Given the description of an element on the screen output the (x, y) to click on. 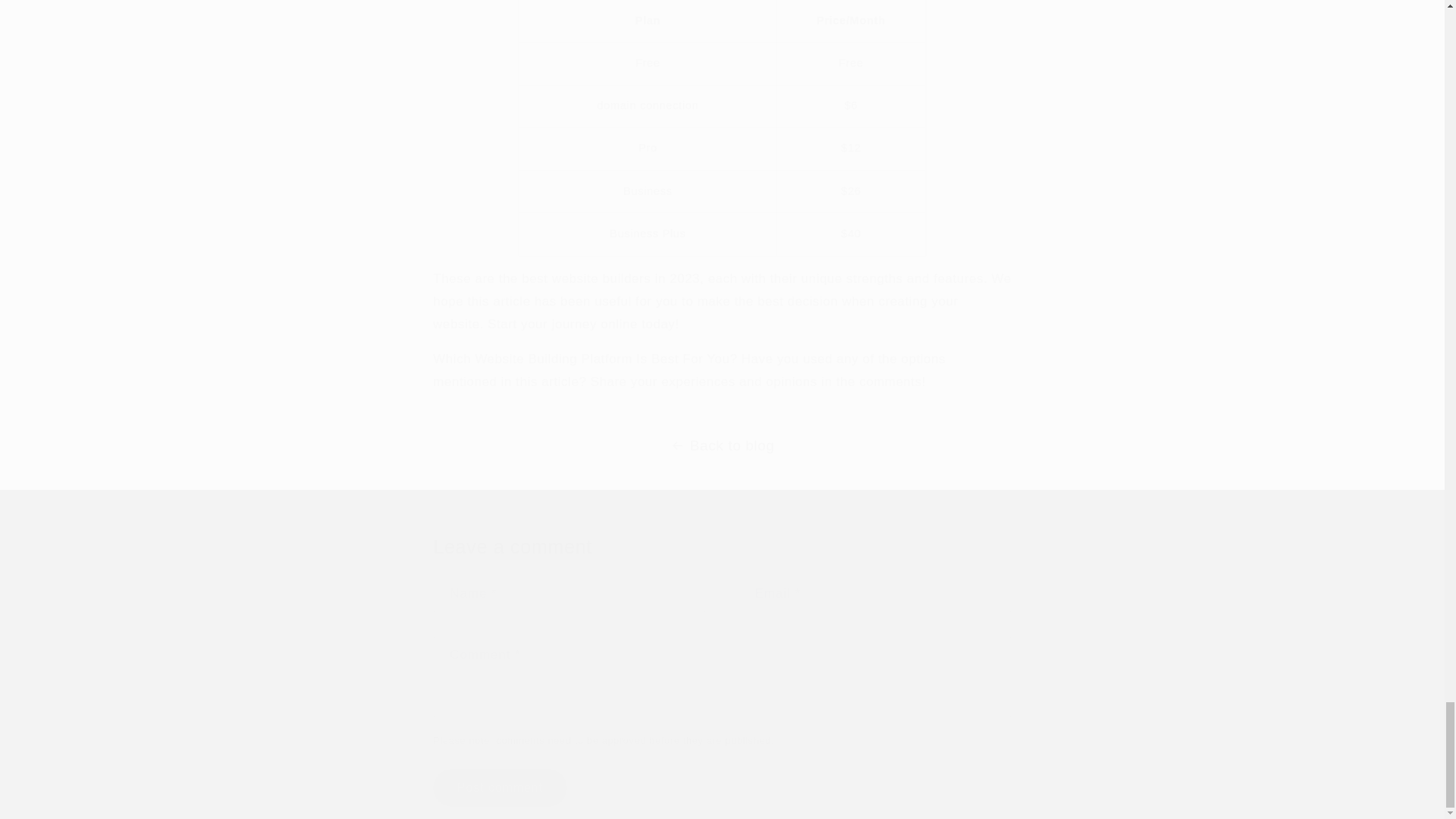
Post comment (499, 787)
